Given the description of an element on the screen output the (x, y) to click on. 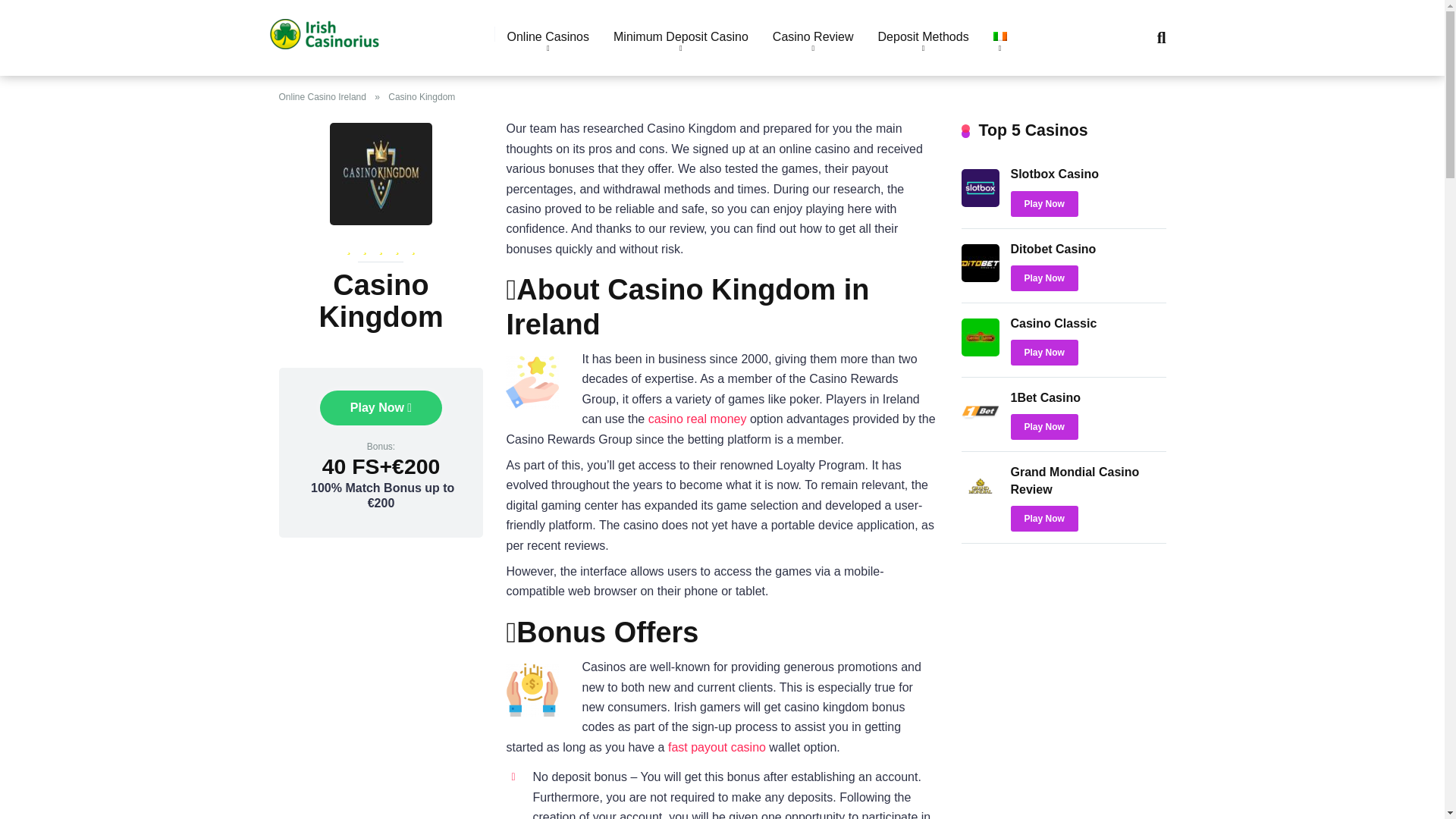
Online Casinos (548, 37)
Deposit Methods (923, 37)
IrishCasinorius (323, 28)
casino real money (696, 418)
fast payout casino (716, 747)
Minimum Deposit Casino (680, 37)
Online Casino Ireland (325, 96)
Casino Review (813, 37)
